Given the description of an element on the screen output the (x, y) to click on. 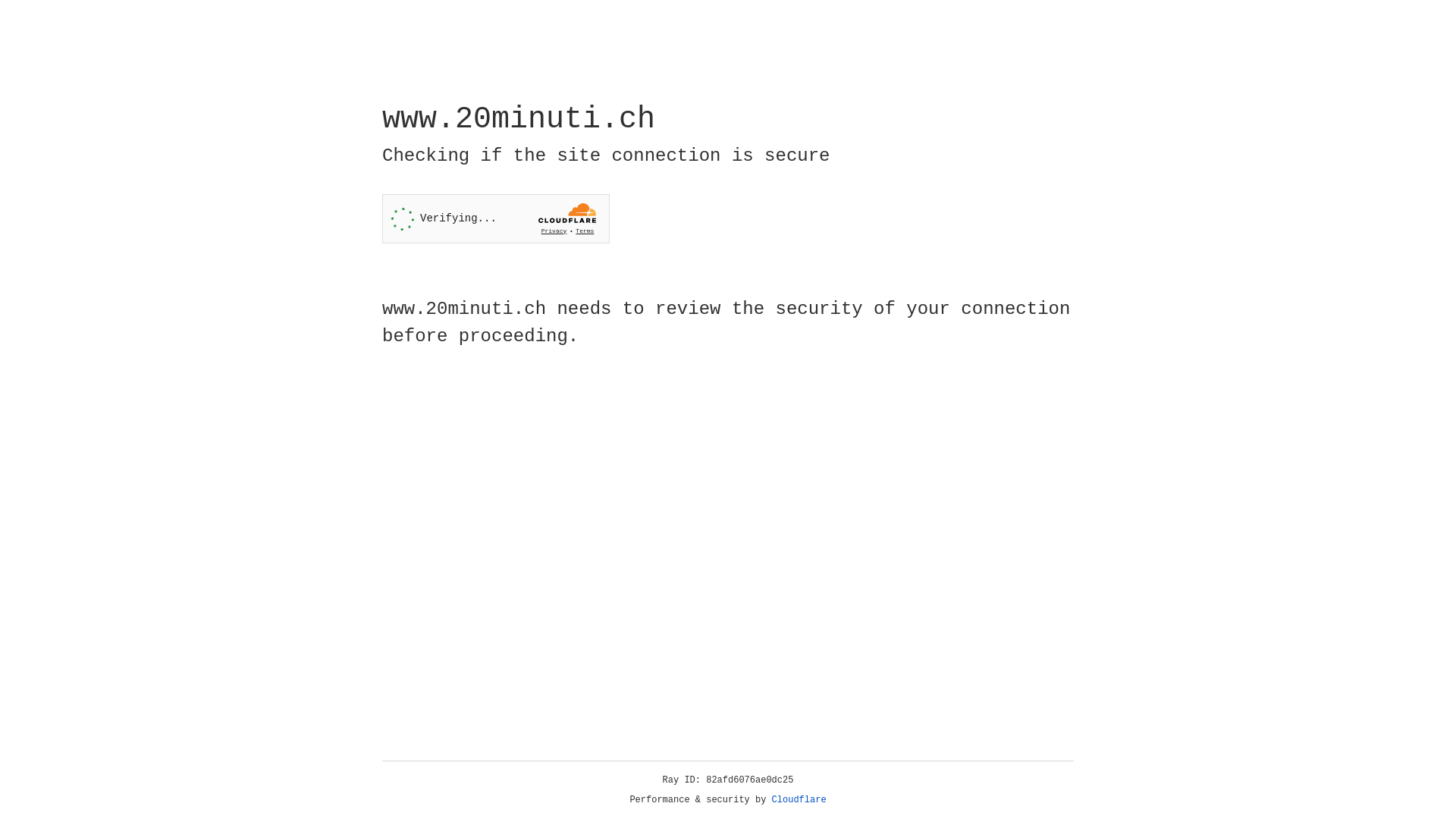
Cloudflare Element type: text (798, 799)
Widget containing a Cloudflare security challenge Element type: hover (495, 218)
